Given the description of an element on the screen output the (x, y) to click on. 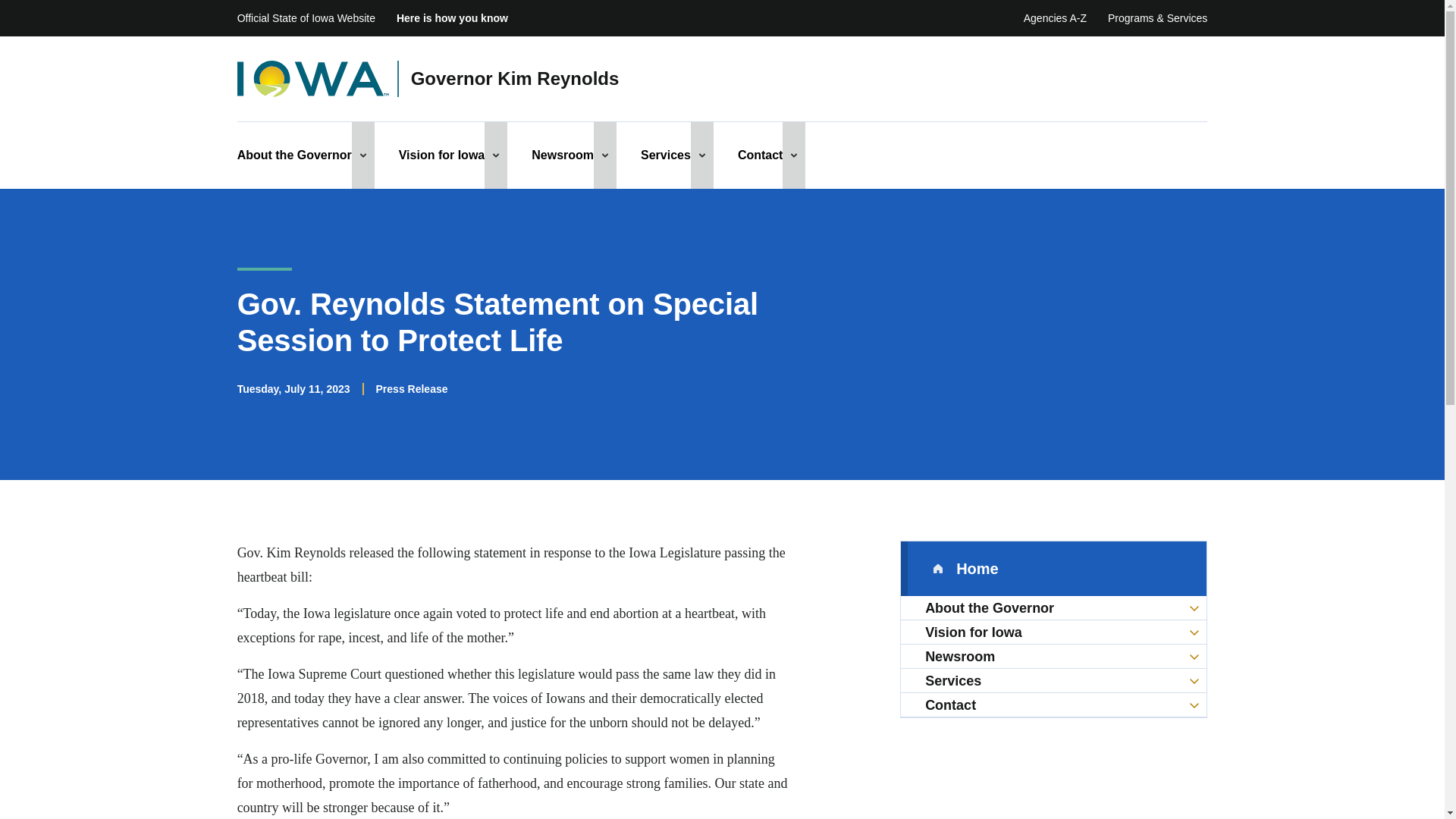
Press Release (411, 388)
Governor Kim Reynolds (515, 78)
Newsroom (562, 155)
Here is how you know (452, 18)
Vision for Iowa (441, 155)
Home (1054, 568)
Agencies A-Z (1054, 18)
About the Governor (294, 155)
